Given the description of an element on the screen output the (x, y) to click on. 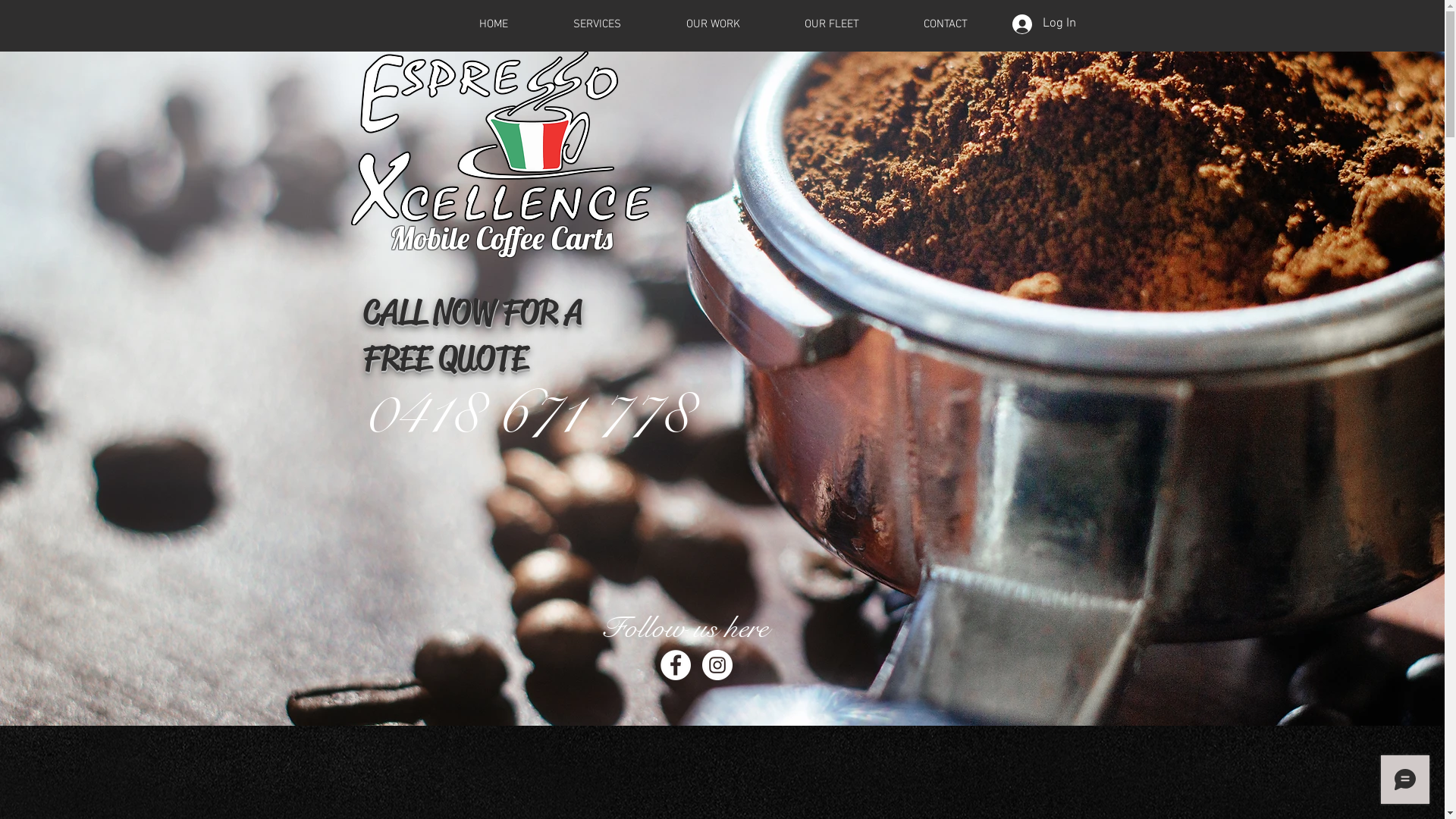
OUR WORK Element type: text (712, 24)
OUR FLEET Element type: text (831, 24)
SERVICES Element type: text (595, 24)
Mobile Coffee Carts Element type: text (500, 237)
HOME Element type: text (492, 24)
Log In Element type: text (1043, 23)
CONTACT Element type: text (945, 24)
